Given the description of an element on the screen output the (x, y) to click on. 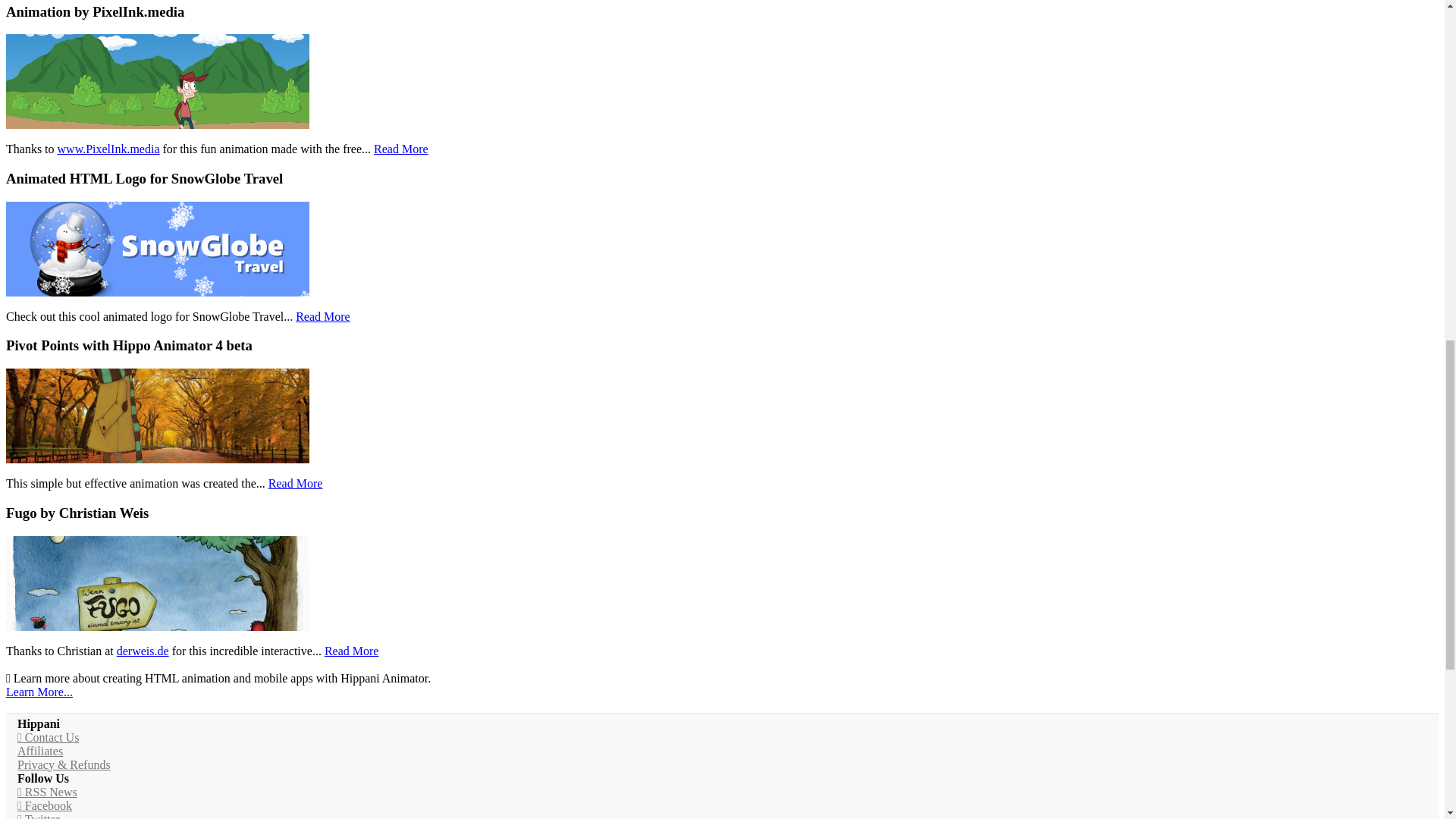
derweis.de (142, 650)
Affiliates (39, 750)
Read More (295, 482)
Read More (401, 148)
Learn More... (38, 691)
www.PixelInk.media (109, 148)
Read More (322, 316)
Read More (351, 650)
